Given the description of an element on the screen output the (x, y) to click on. 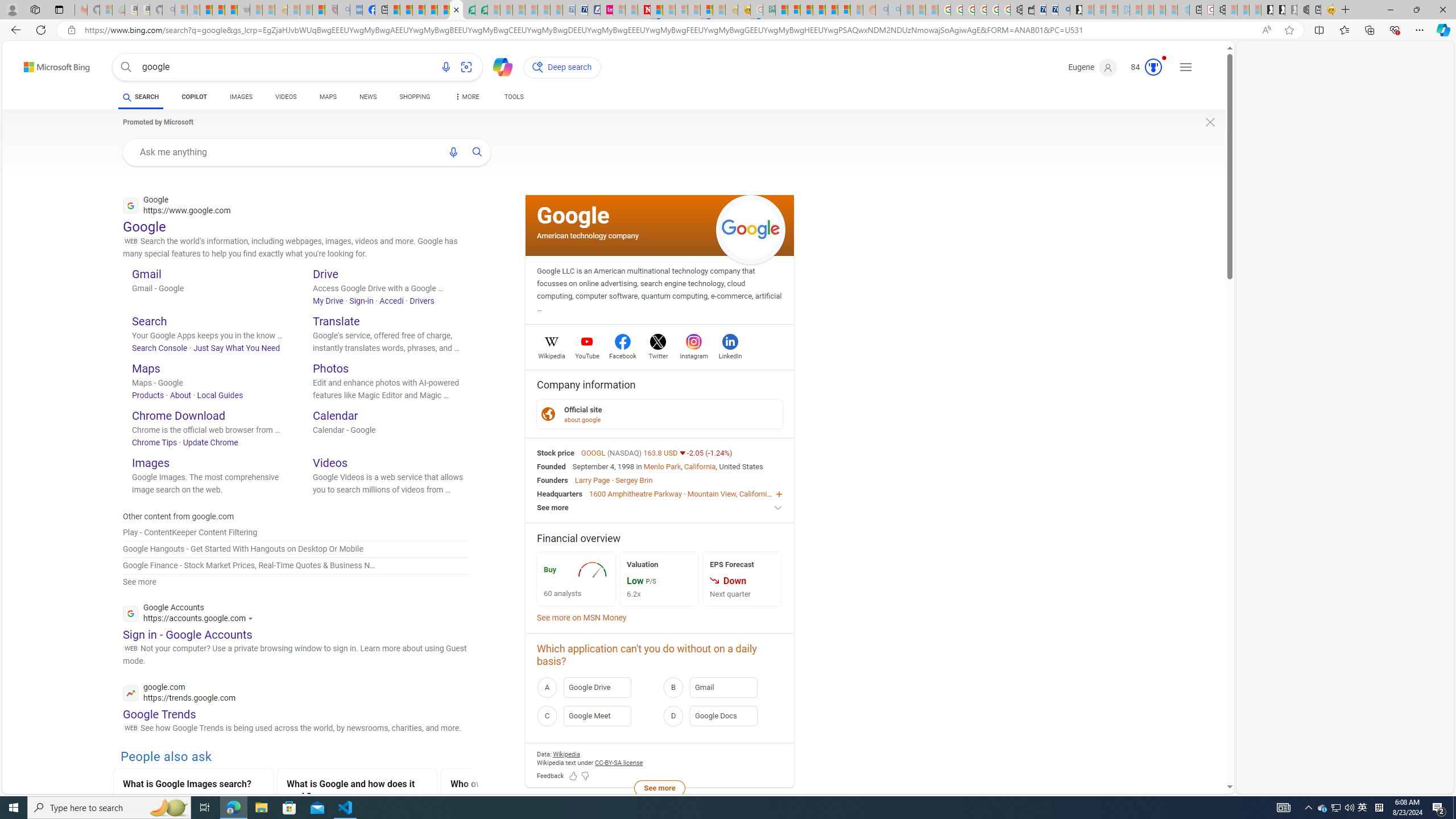
What is Google and how does it work? (357, 791)
Other content from google.com (178, 516)
GmailGmail - Google (210, 290)
